Given the description of an element on the screen output the (x, y) to click on. 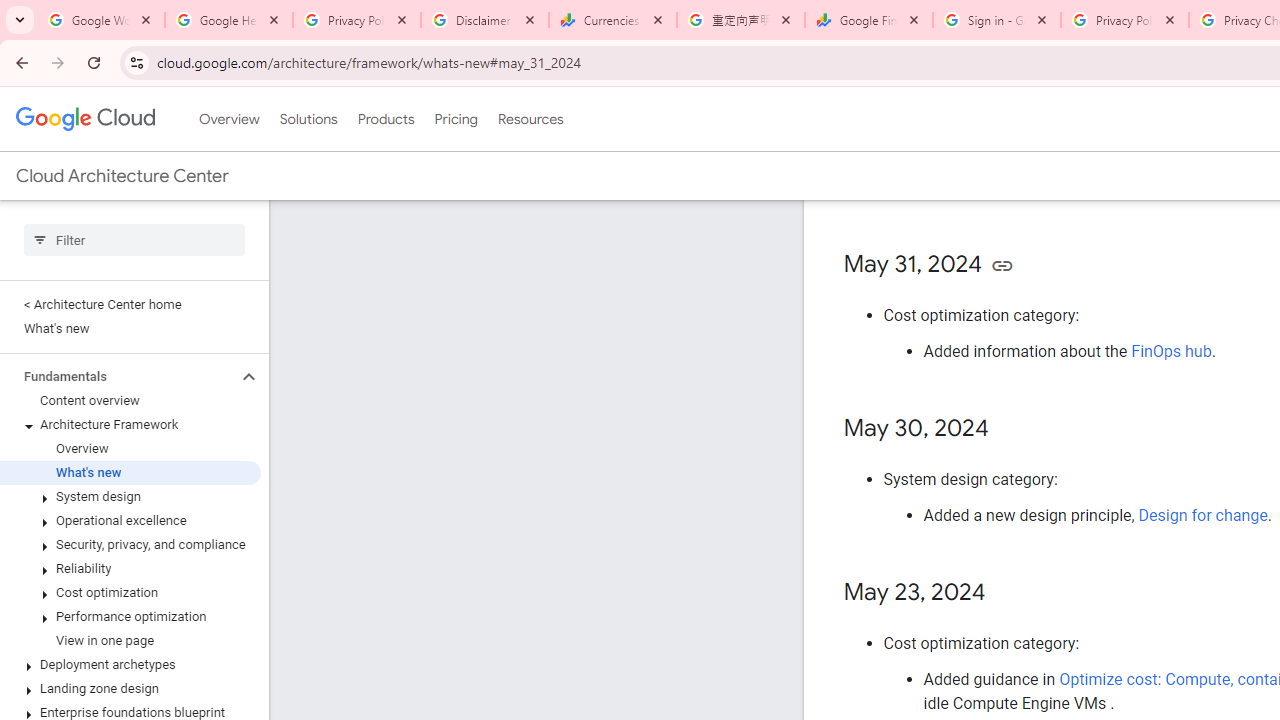
Products (385, 119)
Google Cloud (84, 118)
Copy link to this section: May 23, 2024 (1005, 593)
Resources (530, 119)
Currencies - Google Finance (613, 20)
Content overview (130, 400)
Performance optimization (130, 616)
